Given the description of an element on the screen output the (x, y) to click on. 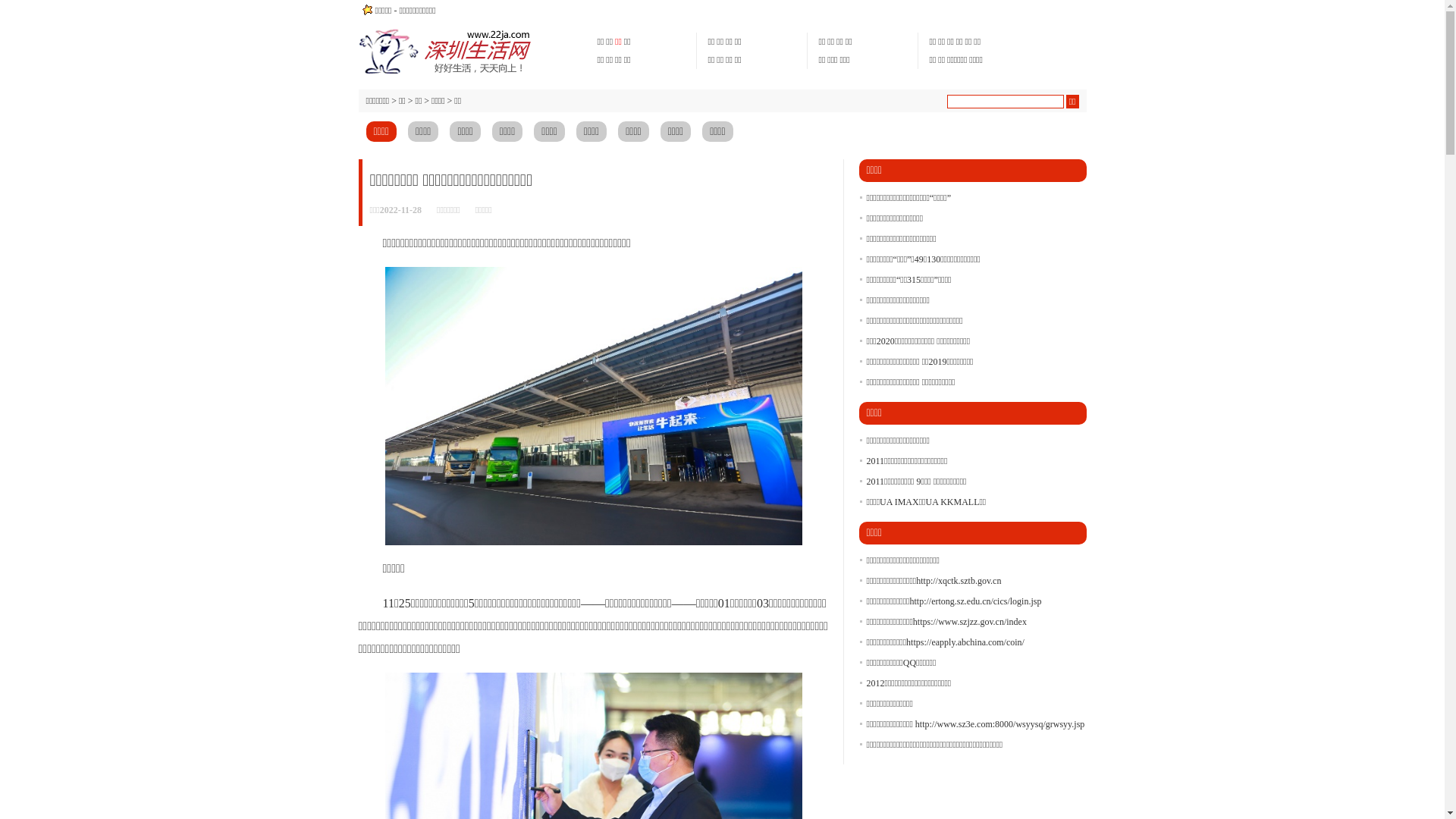
1669604631485297.png Element type: hover (593, 405)
